Given the description of an element on the screen output the (x, y) to click on. 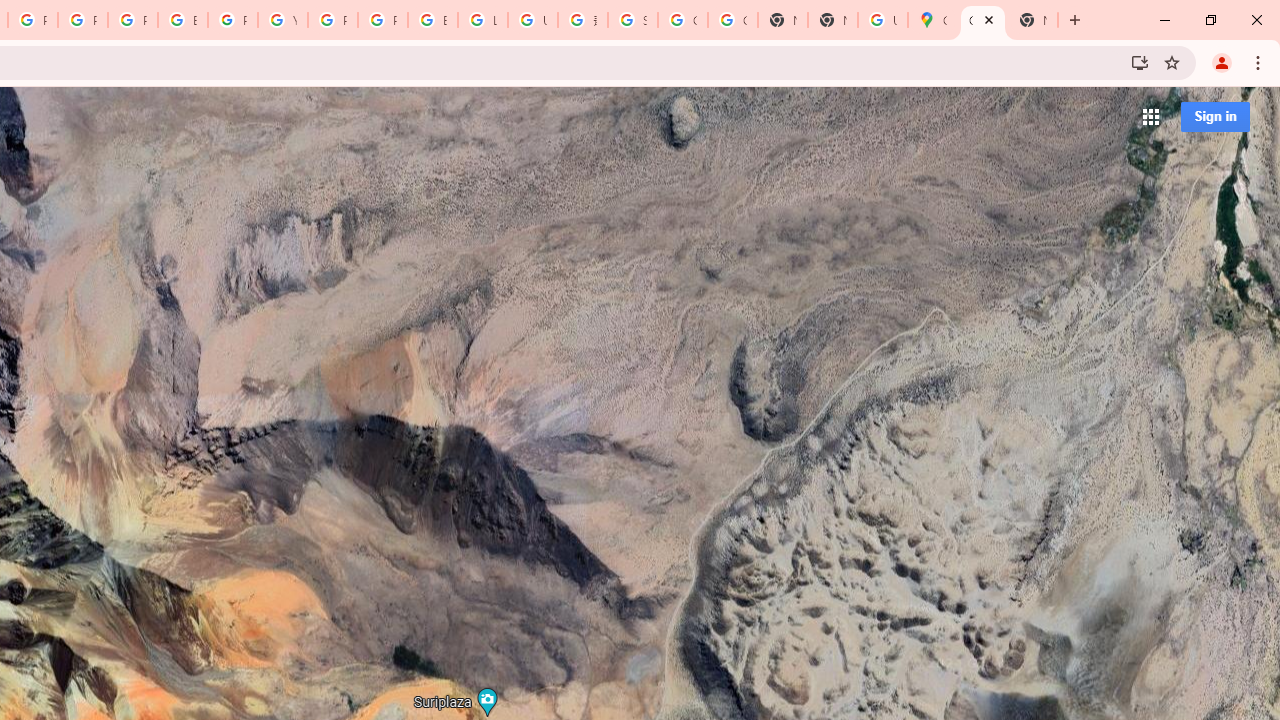
New Tab (1032, 20)
YouTube (283, 20)
New Tab (832, 20)
